Given the description of an element on the screen output the (x, y) to click on. 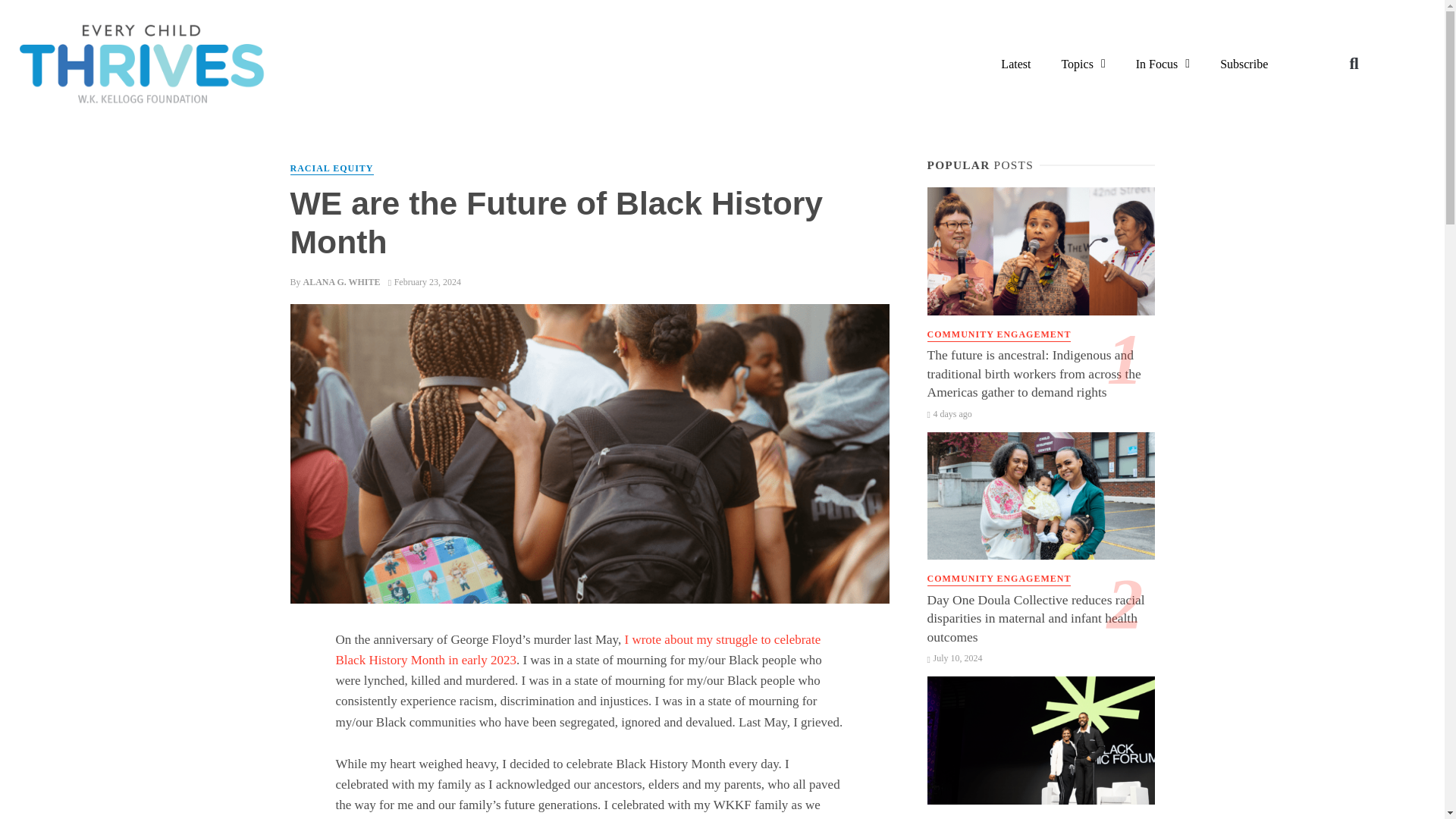
Topics (1082, 64)
In Focus (1163, 64)
Posts by Alana G. White (341, 281)
July 17, 2024 at 10:27 am (948, 413)
July 10, 2024 at 4:02 pm (953, 657)
Subscribe (1243, 64)
Latest (1015, 64)
February 23, 2024 at 3:46 pm (424, 281)
